Given the description of an element on the screen output the (x, y) to click on. 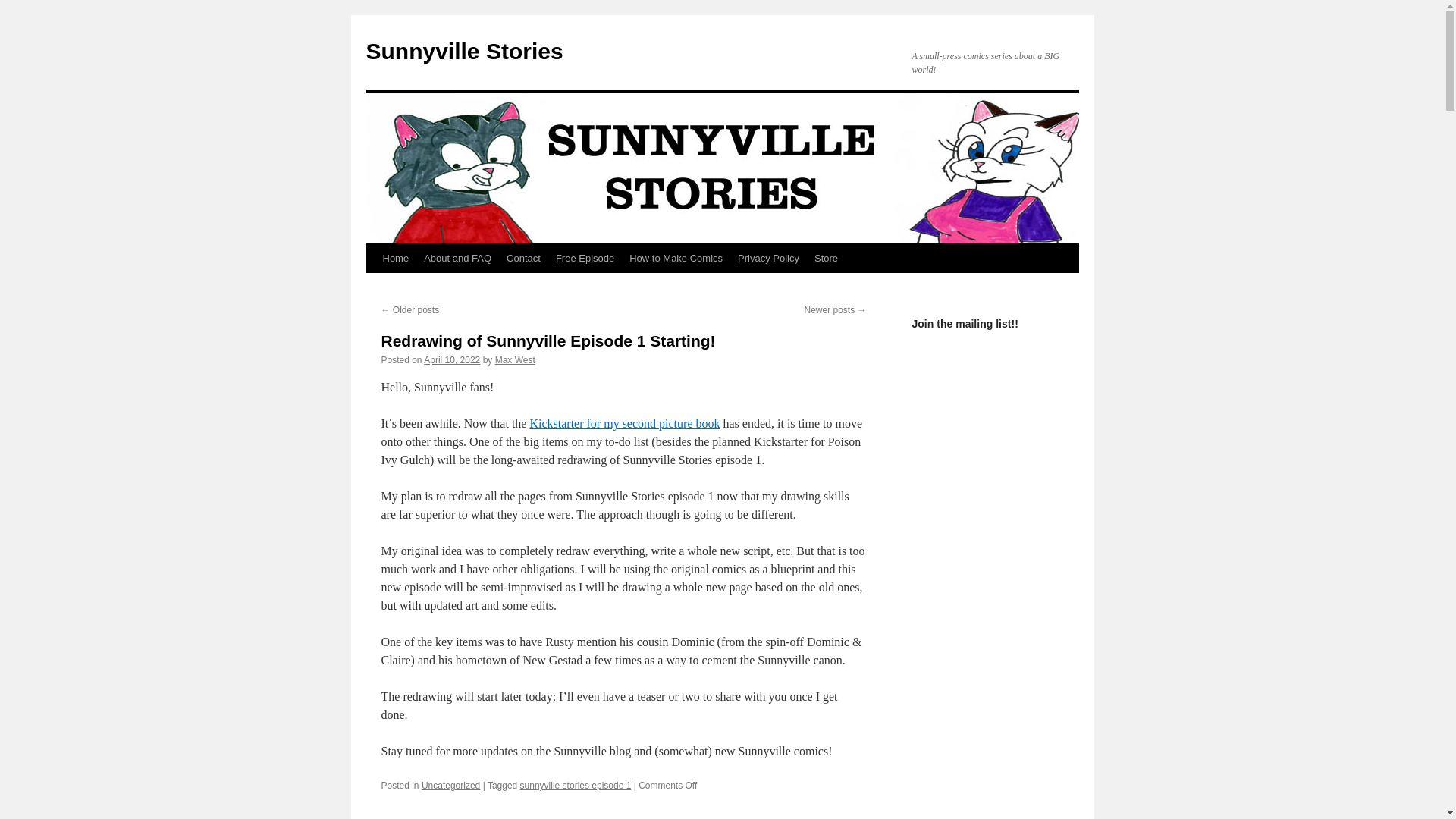
Privacy Policy (768, 258)
Store (825, 258)
How to Make Comics (675, 258)
sunnyville stories episode 1 (575, 785)
8:55 am (451, 359)
Sunnyville Stories (463, 50)
Contact (523, 258)
Max West (515, 359)
Free Episode (584, 258)
View all posts by Max West (515, 359)
